Given the description of an element on the screen output the (x, y) to click on. 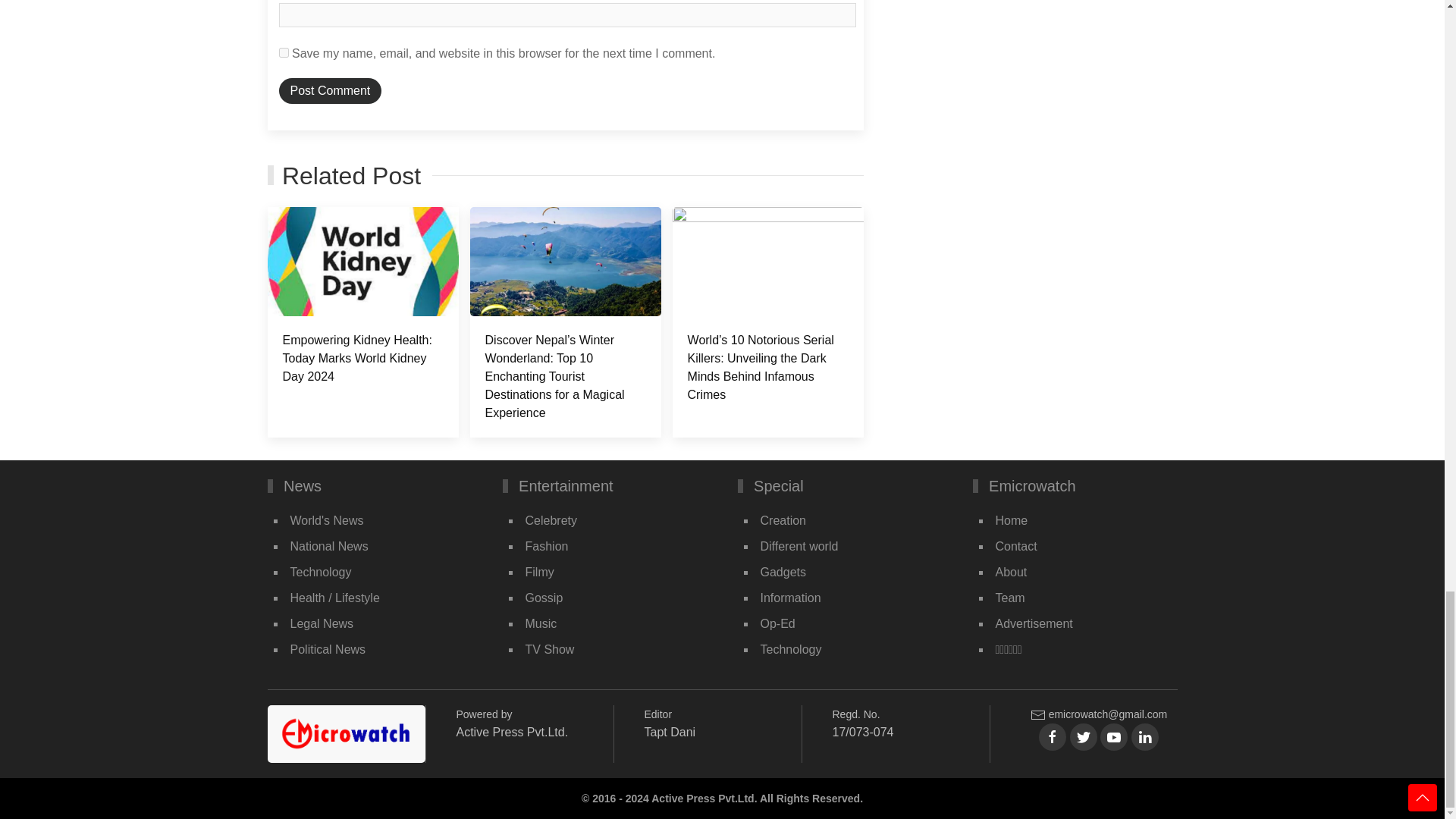
yes (283, 52)
Post Comment (330, 90)
